Given the description of an element on the screen output the (x, y) to click on. 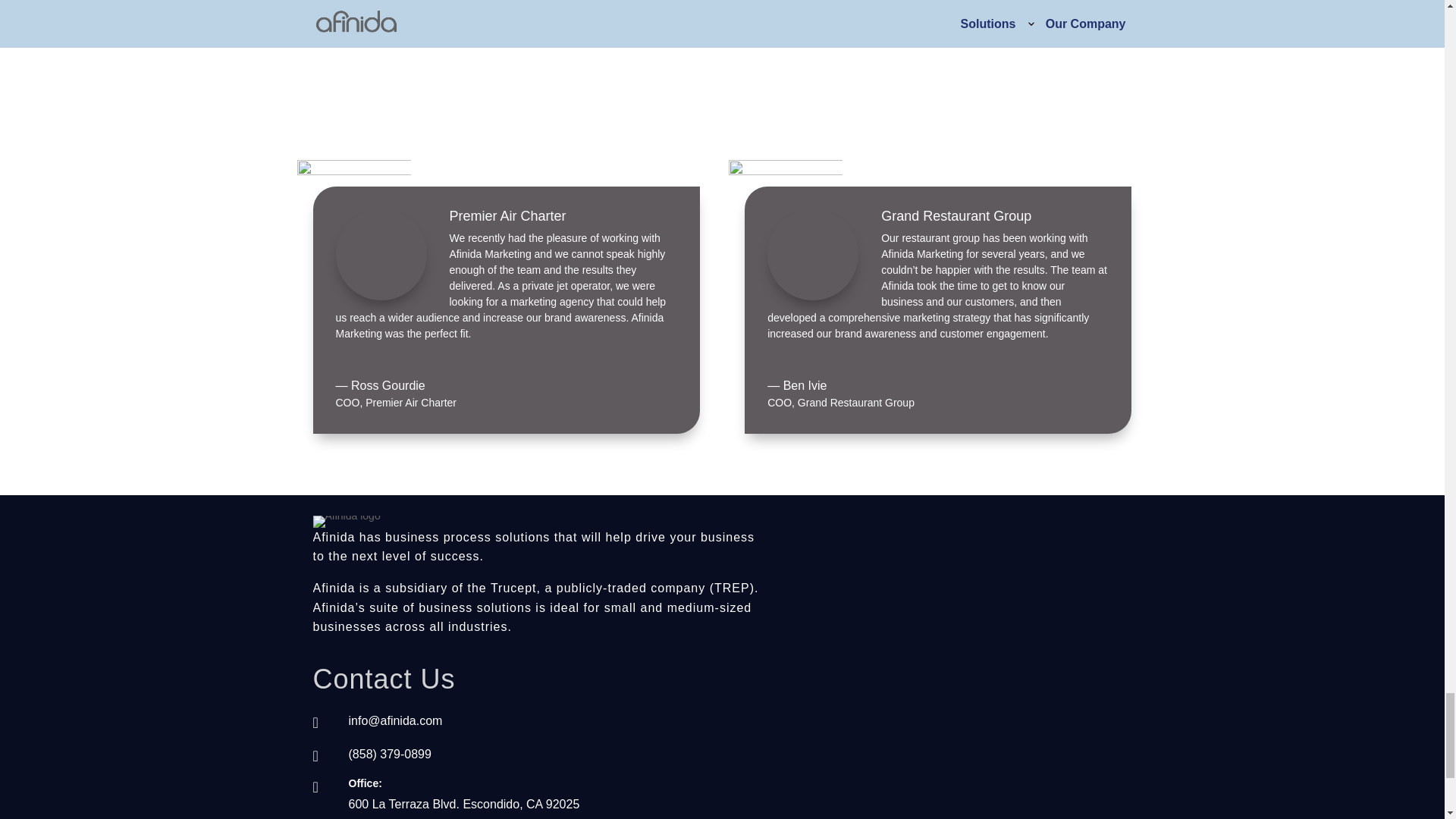
600 La Terraza Blvd. Escondido, CA 92025 (464, 803)
